Given the description of an element on the screen output the (x, y) to click on. 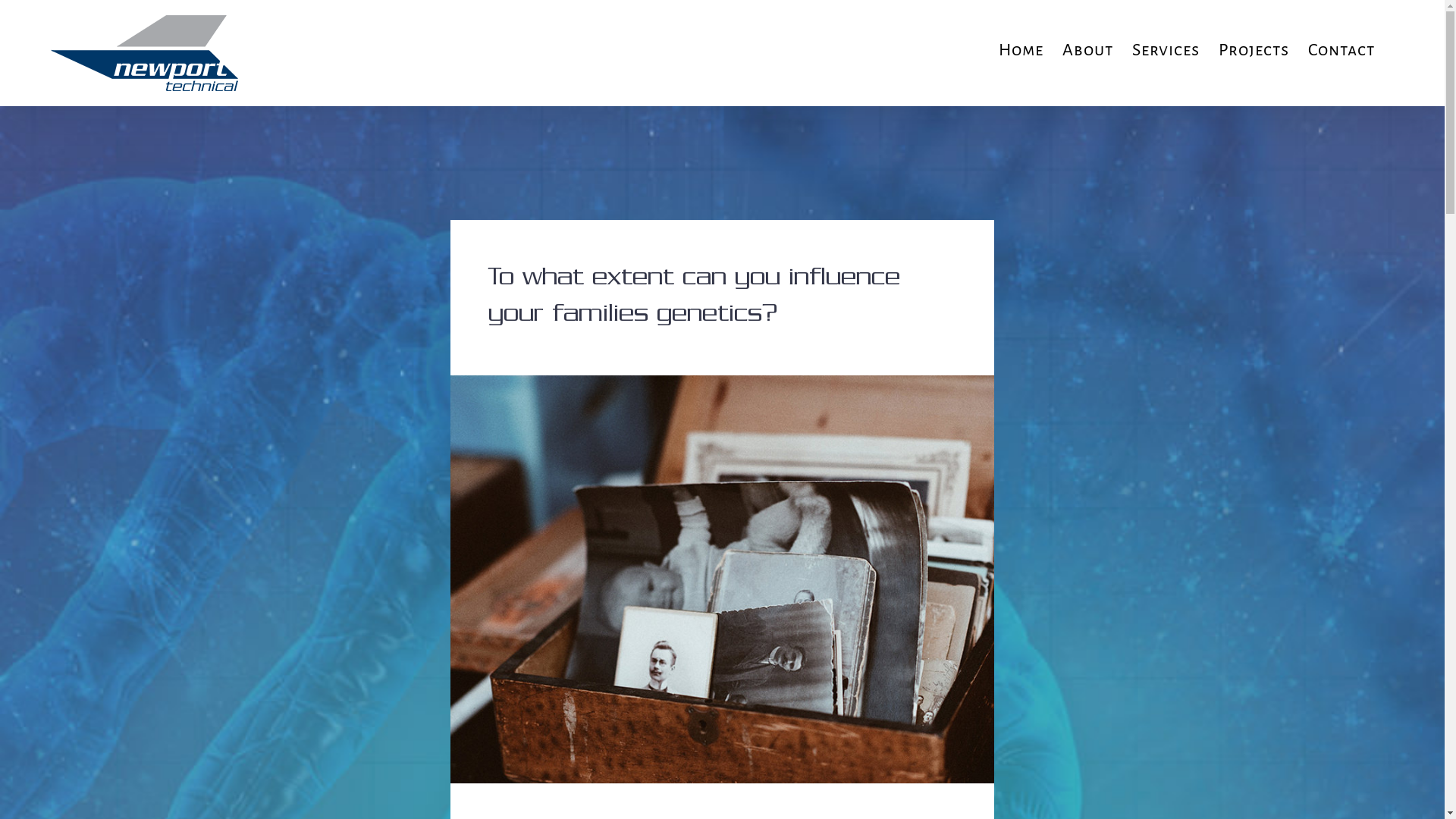
Projects Element type: text (1253, 49)
About Element type: text (1087, 49)
Contact Element type: text (1341, 49)
photo-1453828423292-392a660a502f Element type: hover (722, 386)
Home Element type: text (1020, 49)
Services Element type: text (1165, 49)
